Given the description of an element on the screen output the (x, y) to click on. 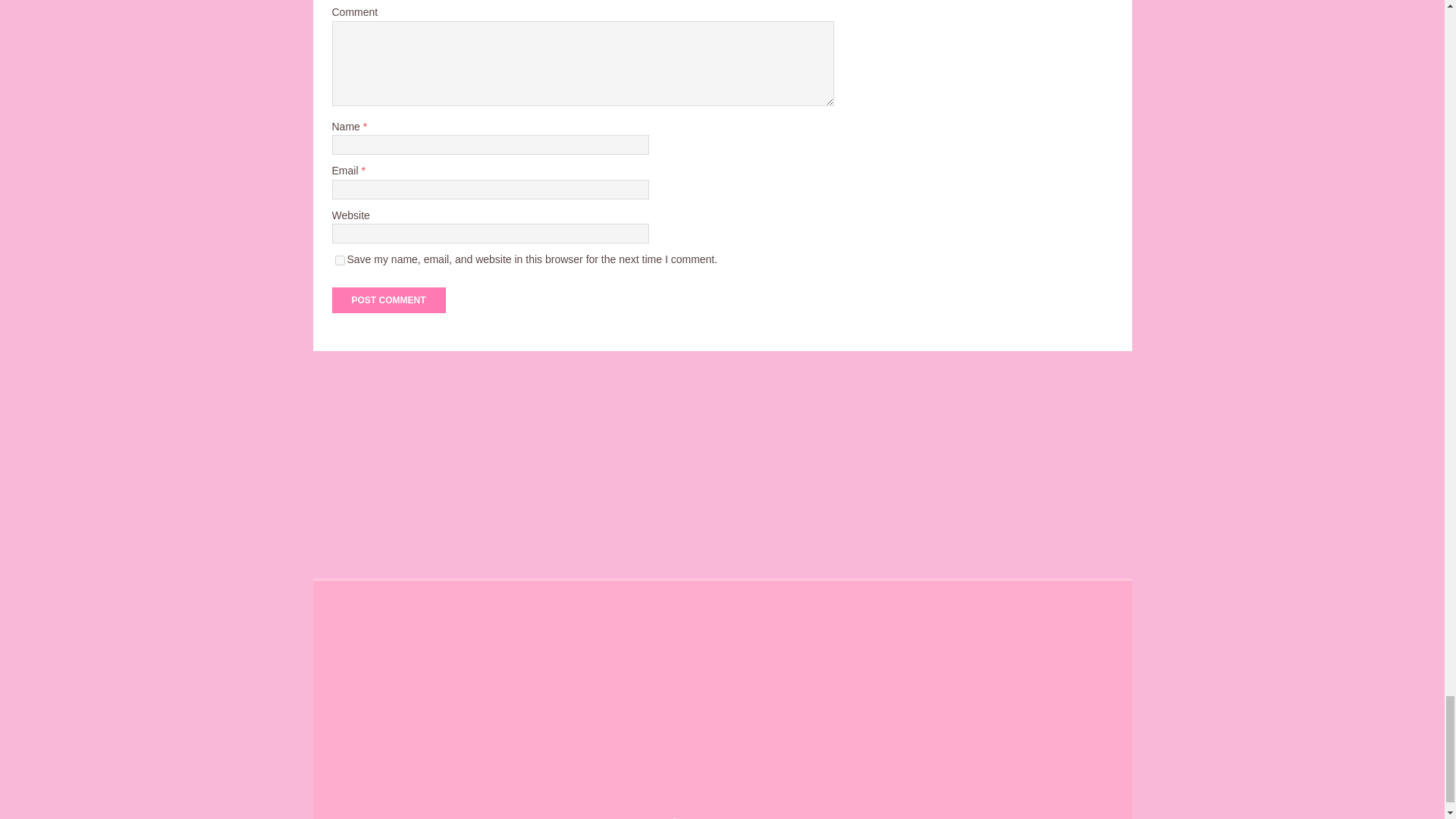
yes (339, 260)
Post Comment (388, 299)
